Given the description of an element on the screen output the (x, y) to click on. 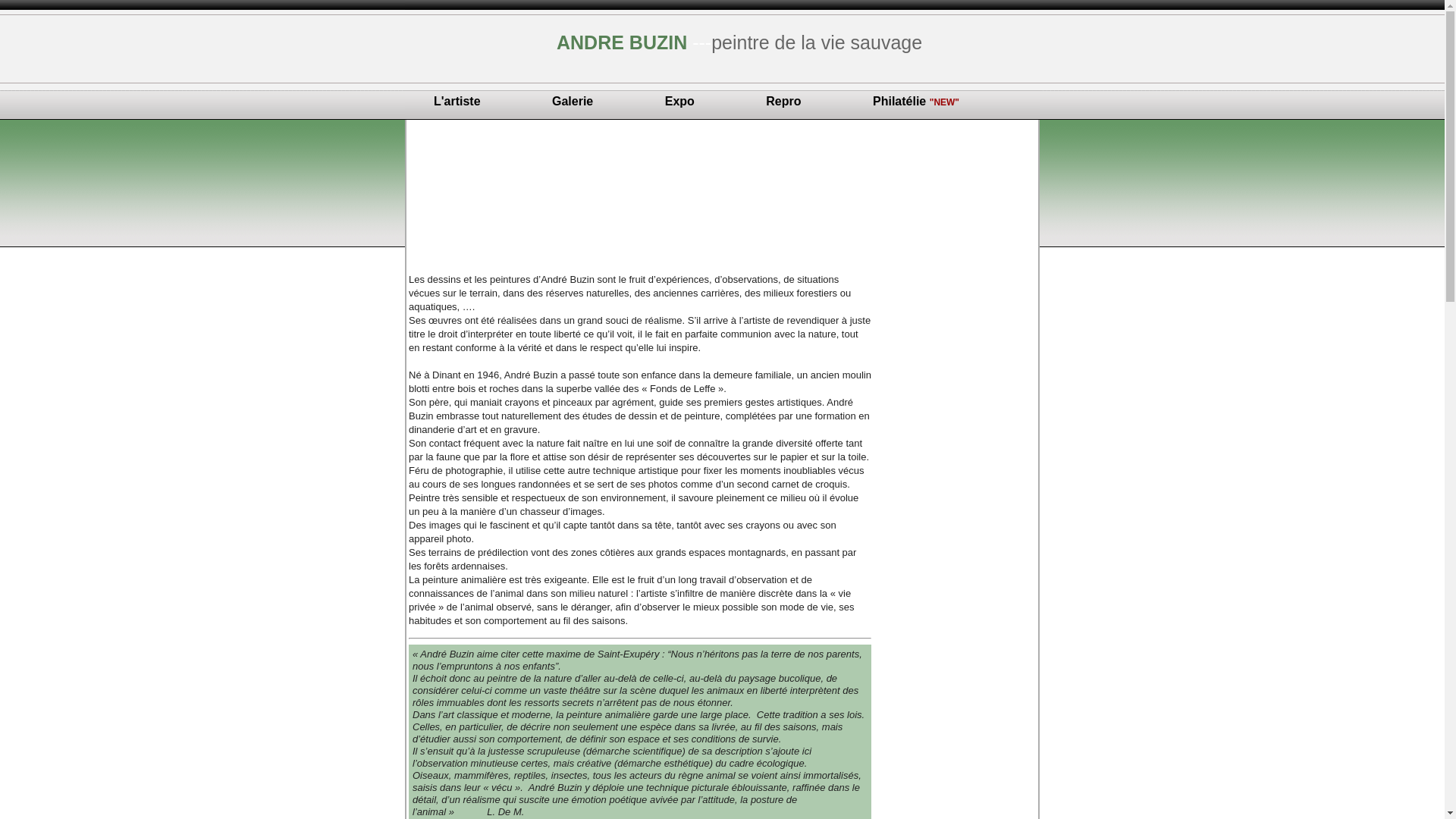
Repro Element type: text (782, 100)
Expo Element type: text (679, 100)
Galerie Element type: text (572, 100)
L'artiste Element type: text (456, 100)
